Given the description of an element on the screen output the (x, y) to click on. 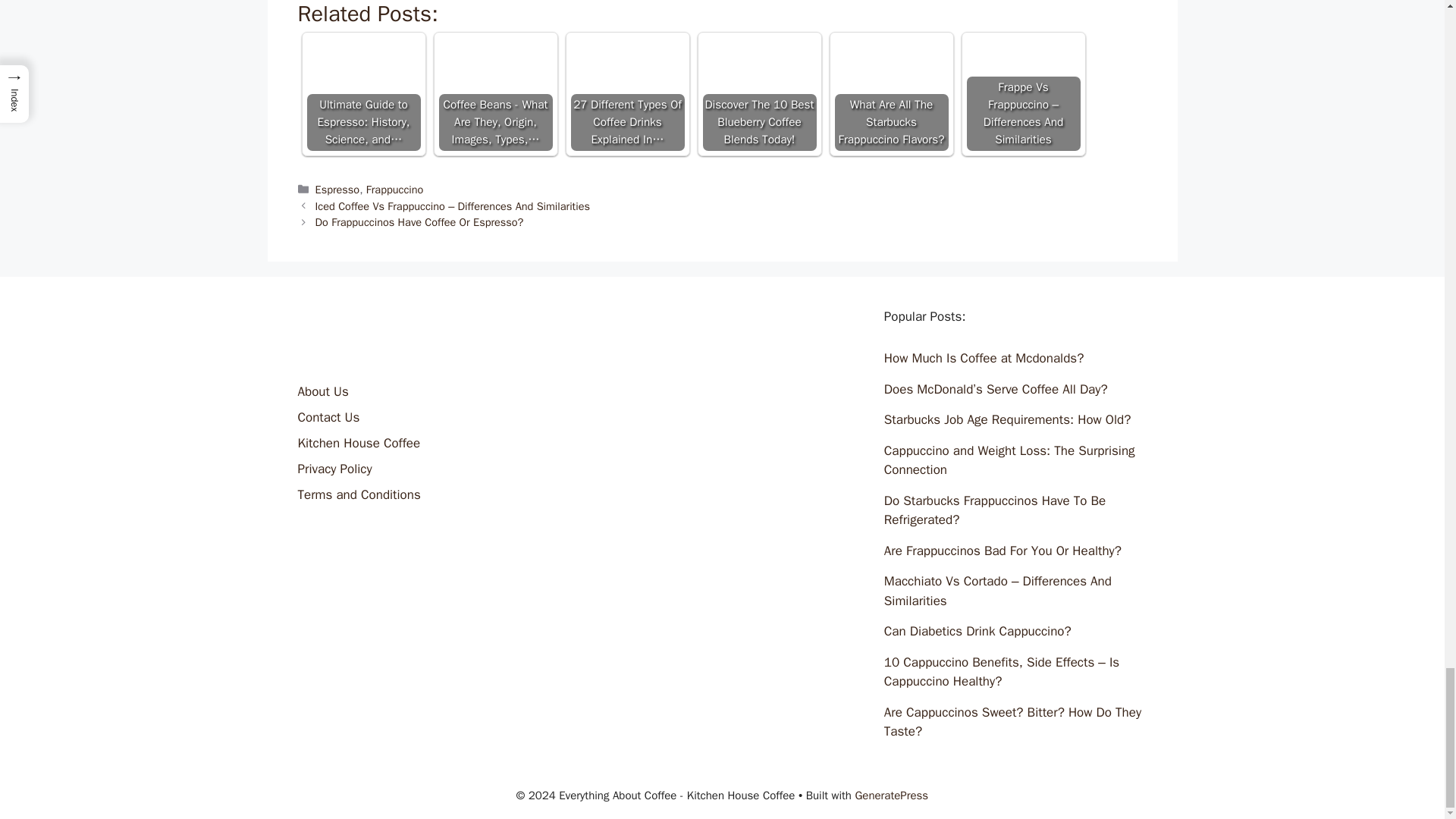
What Are All The Starbucks Frappuccino Flavors? (890, 68)
Discover The 10 Best Blueberry Coffee Blends Today! (758, 68)
